Given the description of an element on the screen output the (x, y) to click on. 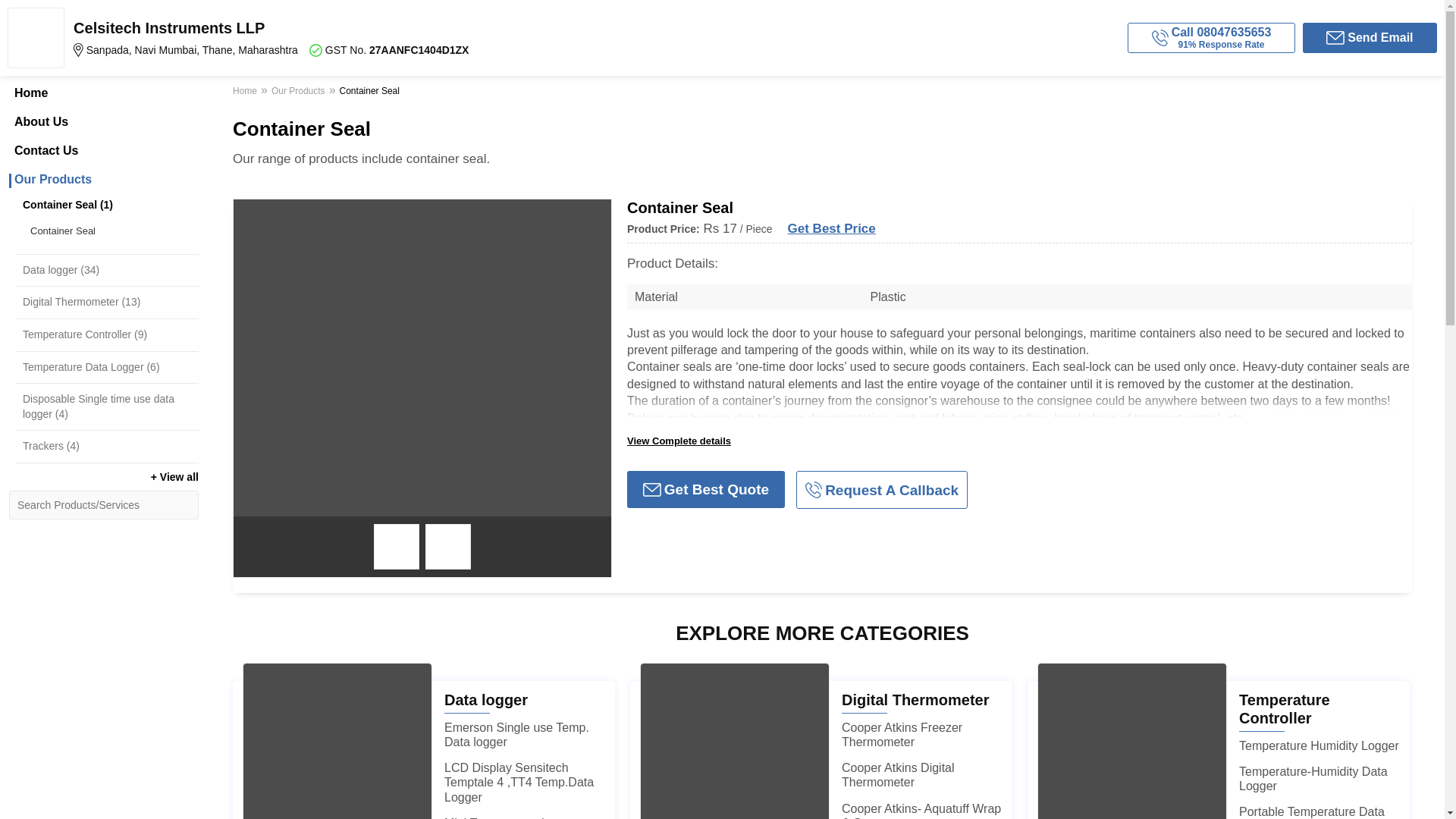
Contact Us (103, 150)
Our Products (103, 179)
About Us (103, 121)
Container Seal (110, 231)
Home (103, 92)
